Given the description of an element on the screen output the (x, y) to click on. 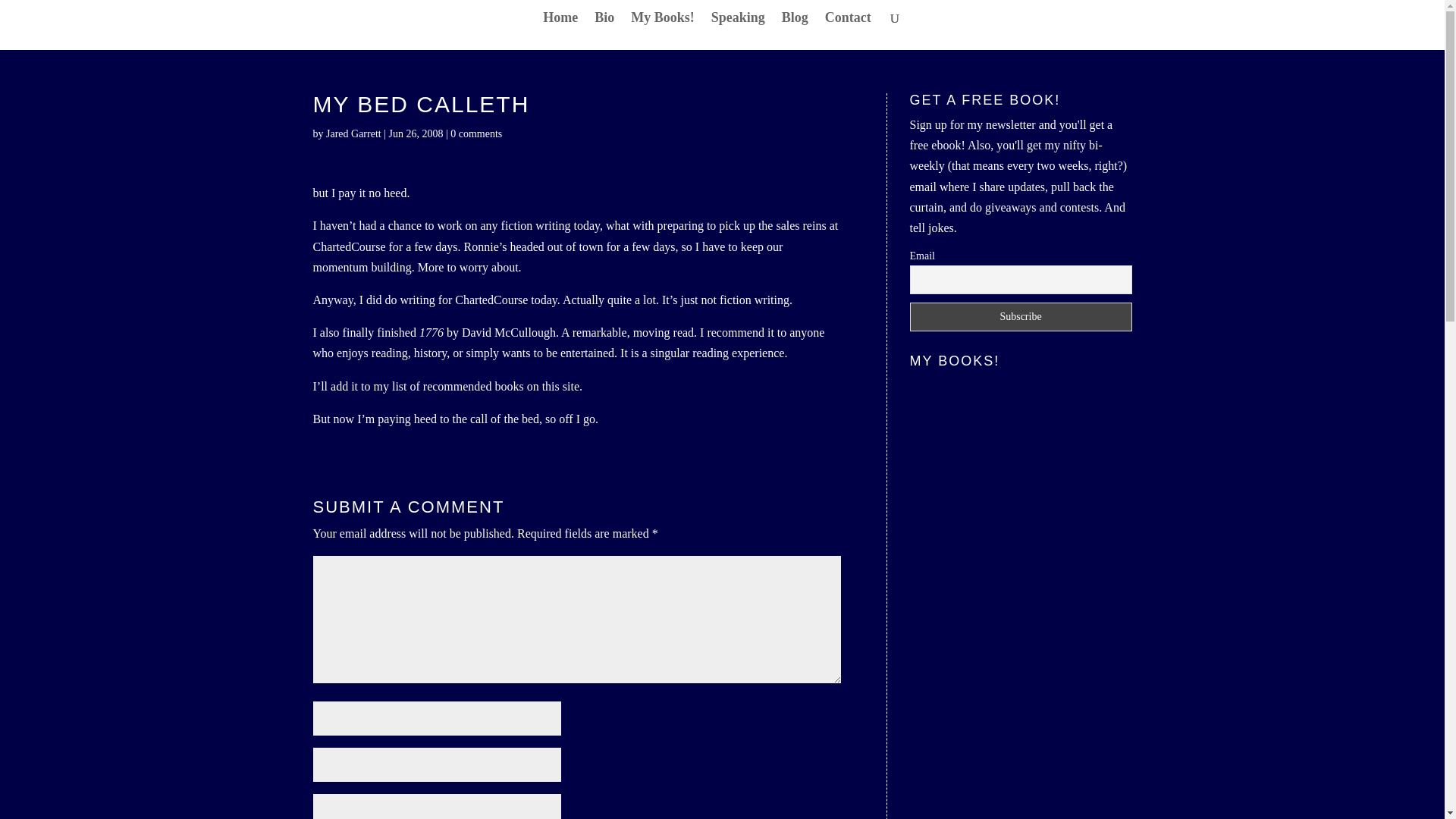
Subscribe (1021, 316)
0 comments (475, 133)
Speaking (738, 30)
Subscribe (1021, 316)
Home (560, 30)
Contact (847, 30)
Jared Garrett (353, 133)
My Books! (662, 30)
Posts by Jared Garrett (353, 133)
